Given the description of an element on the screen output the (x, y) to click on. 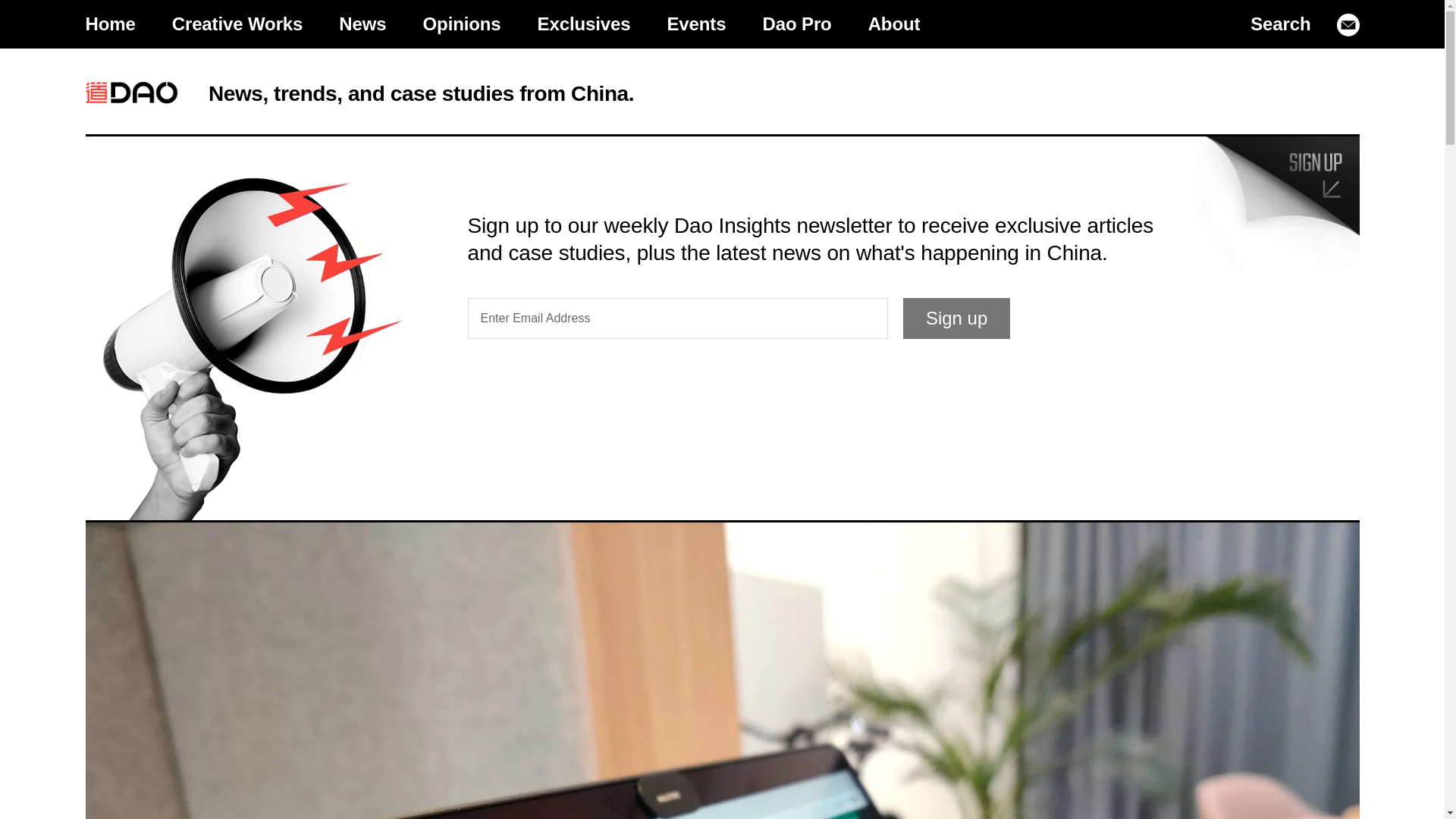
Sign up (956, 318)
Opinions (461, 24)
News (362, 24)
Events (695, 24)
Dao Insights (130, 92)
Creative Works (237, 24)
Sign up (956, 318)
About (894, 24)
Exclusives (584, 24)
Dao Pro (796, 24)
